Given the description of an element on the screen output the (x, y) to click on. 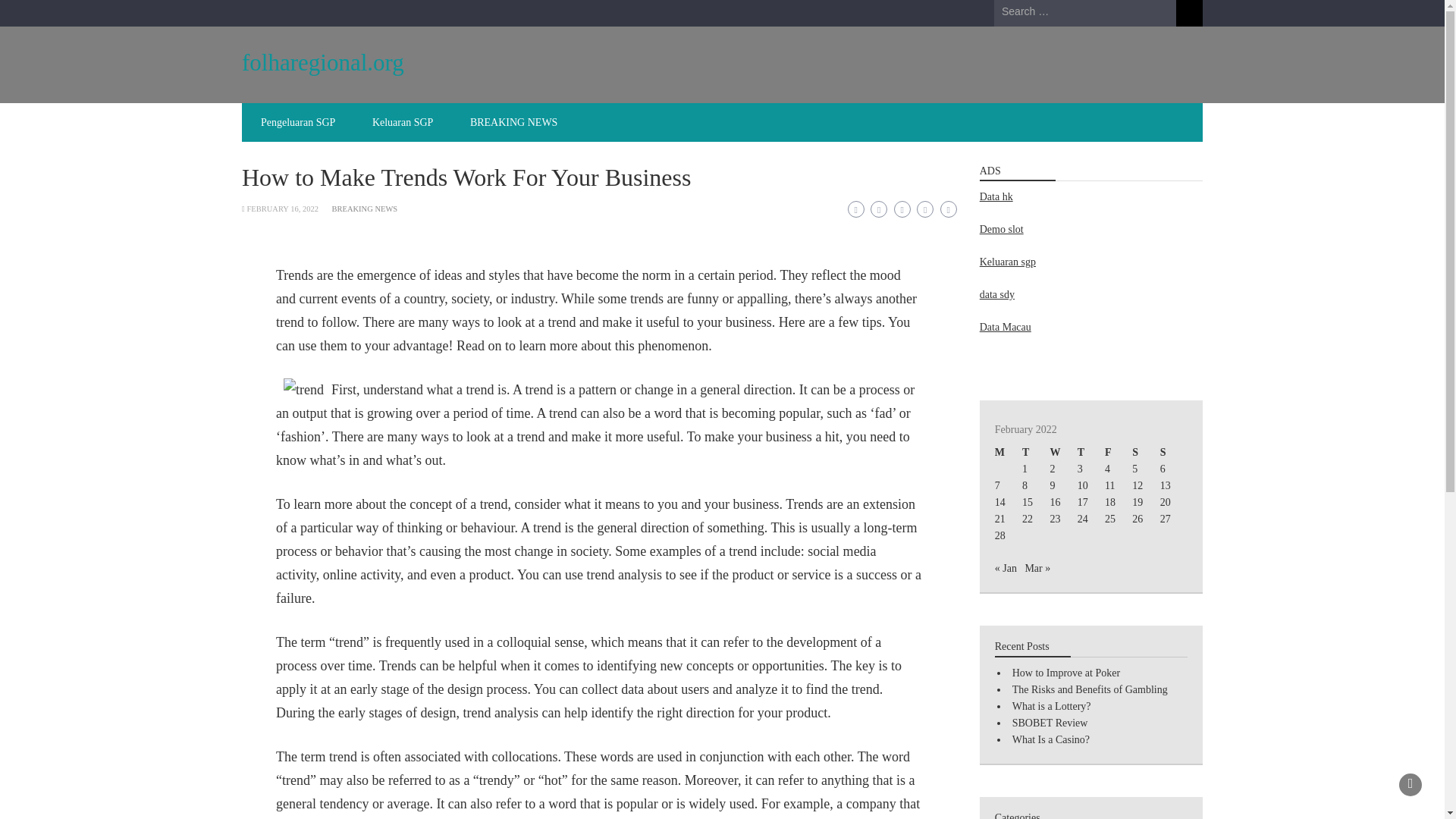
Search for: (1085, 11)
BREAKING NEWS (364, 208)
Demo slot (1001, 229)
10 (1082, 485)
data sdy (996, 294)
Pengeluaran SGP (298, 122)
Data Macau (1004, 326)
12 (1137, 485)
Search (1189, 13)
BREAKING NEWS (513, 122)
